Given the description of an element on the screen output the (x, y) to click on. 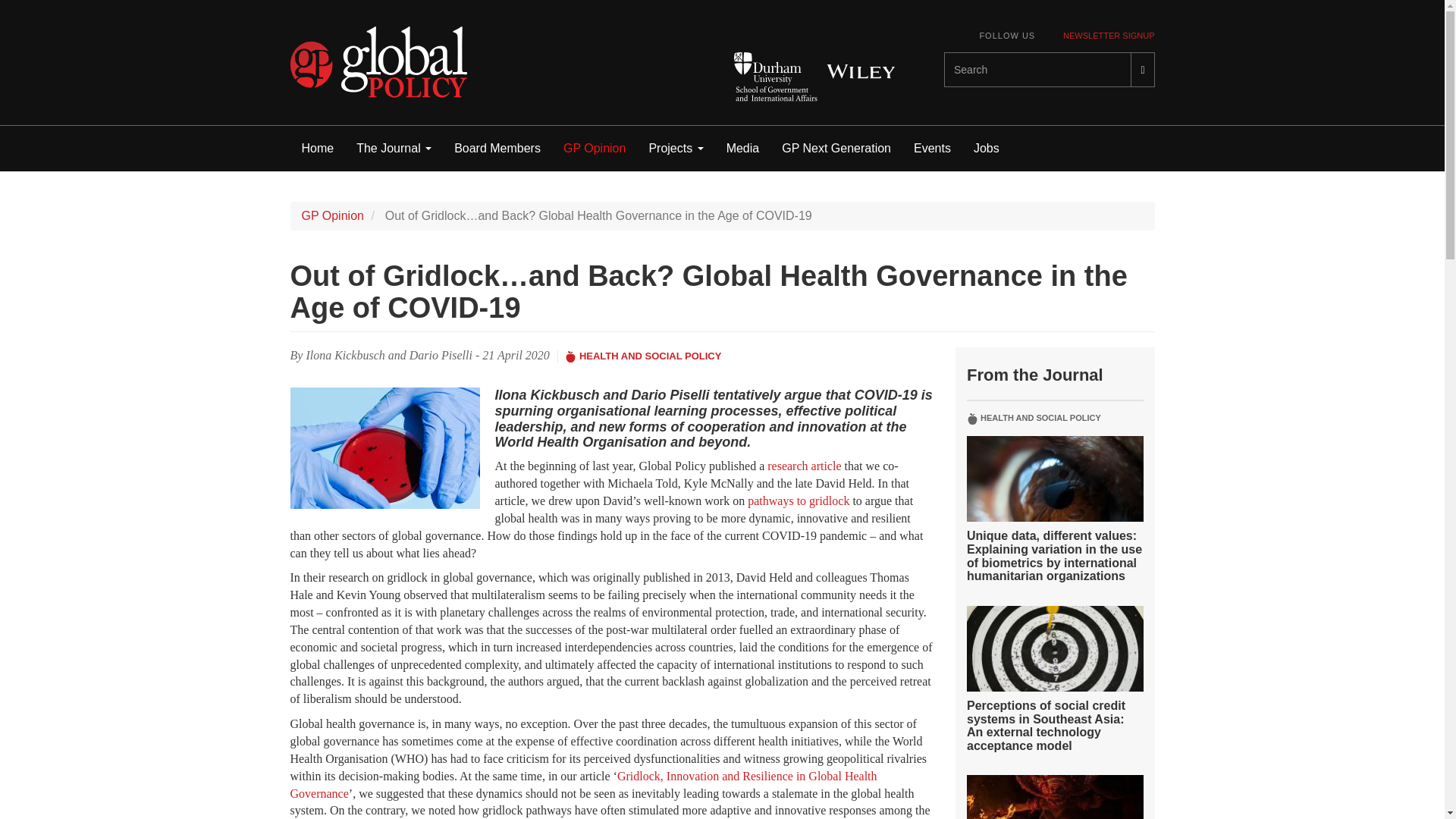
GP Opinion (332, 215)
The Journal (393, 148)
Media (742, 148)
GP Next Generation (836, 148)
GP Opinion (594, 148)
research article (804, 465)
Global Policy Journal (377, 62)
Home (317, 148)
Jobs (986, 148)
Apple black silhouette with a leaf (570, 356)
HEALTH AND SOCIAL POLICY (650, 355)
